Given the description of an element on the screen output the (x, y) to click on. 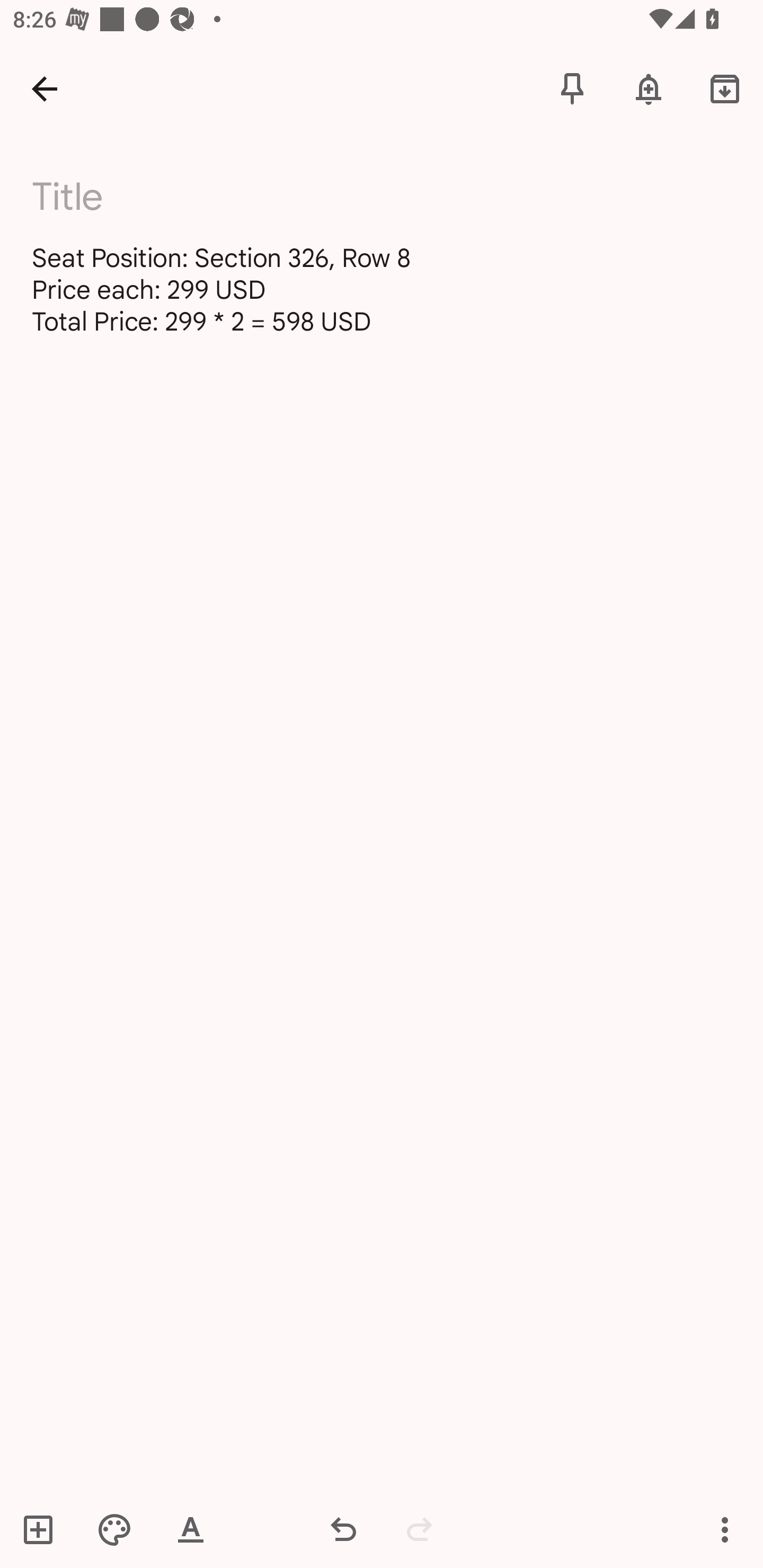
Navigate up (44, 88)
Pin (572, 88)
Reminder (648, 88)
Archive (724, 88)
Title (392, 196)
New list (44, 1529)
Theme (114, 1529)
Show formatting controls (190, 1529)
Undo (343, 1529)
Redo (419, 1529)
Action (724, 1529)
